Given the description of an element on the screen output the (x, y) to click on. 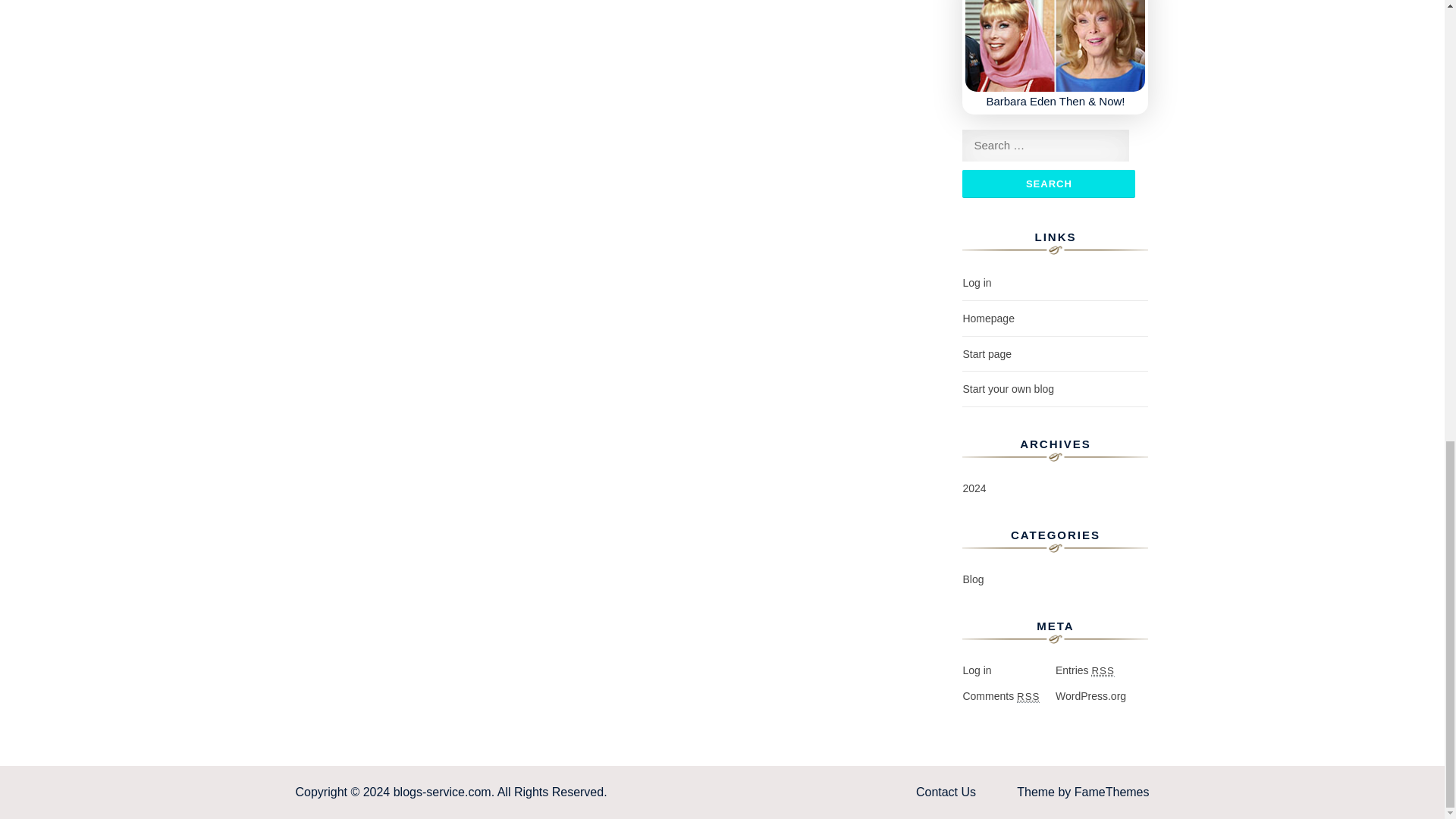
Contact Us (945, 791)
Really Simple Syndication (1101, 671)
Search (1048, 183)
Blog (973, 579)
Start your own blog (1008, 388)
Log in (976, 670)
Really Simple Syndication (1027, 696)
blogs-service.com (442, 791)
Log in (976, 282)
2024 (973, 488)
Comments RSS (1000, 695)
Search (1048, 183)
Entries RSS (1085, 670)
Homepage (988, 318)
